Given the description of an element on the screen output the (x, y) to click on. 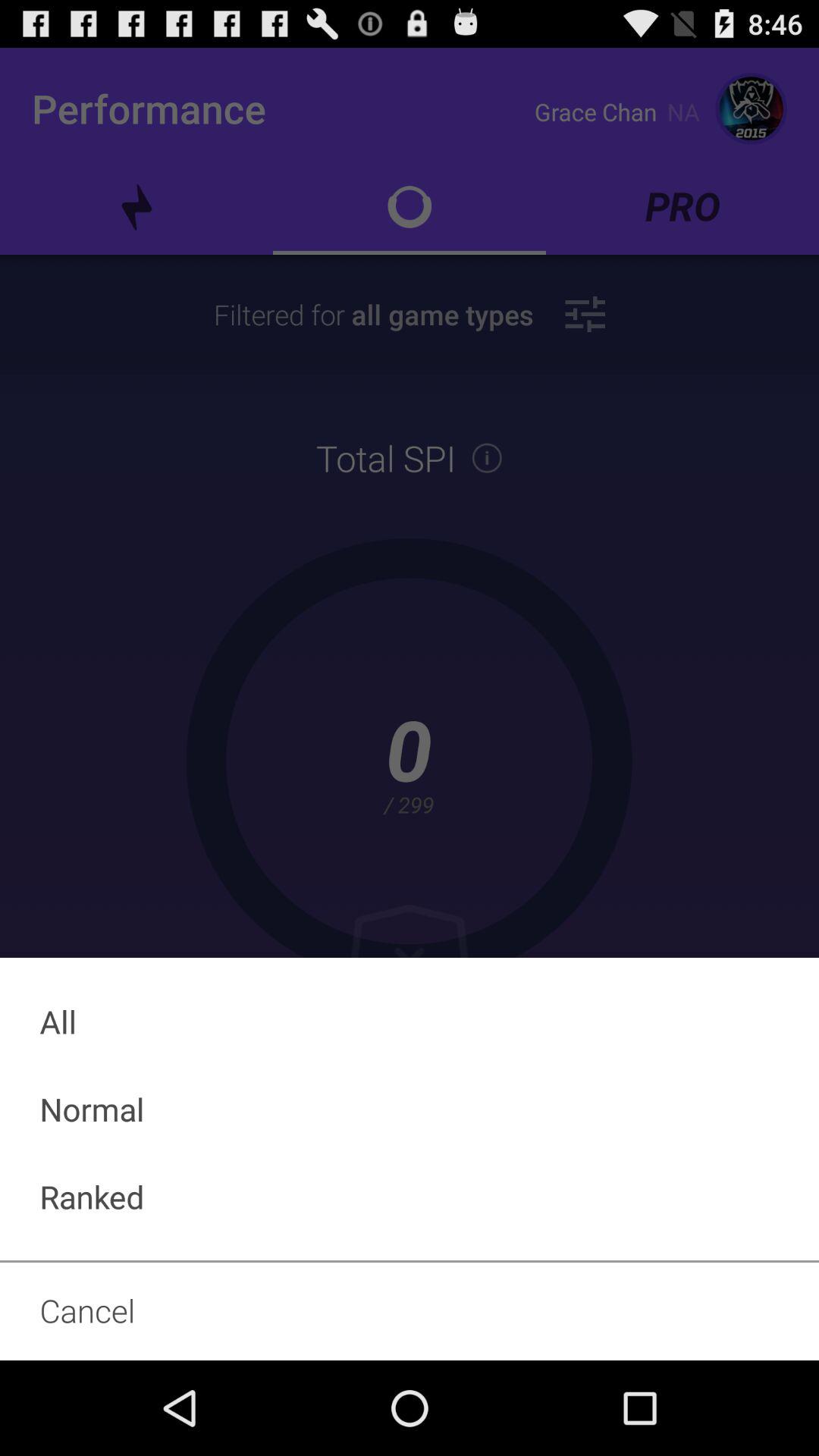
jump to the ranked icon (409, 1196)
